Given the description of an element on the screen output the (x, y) to click on. 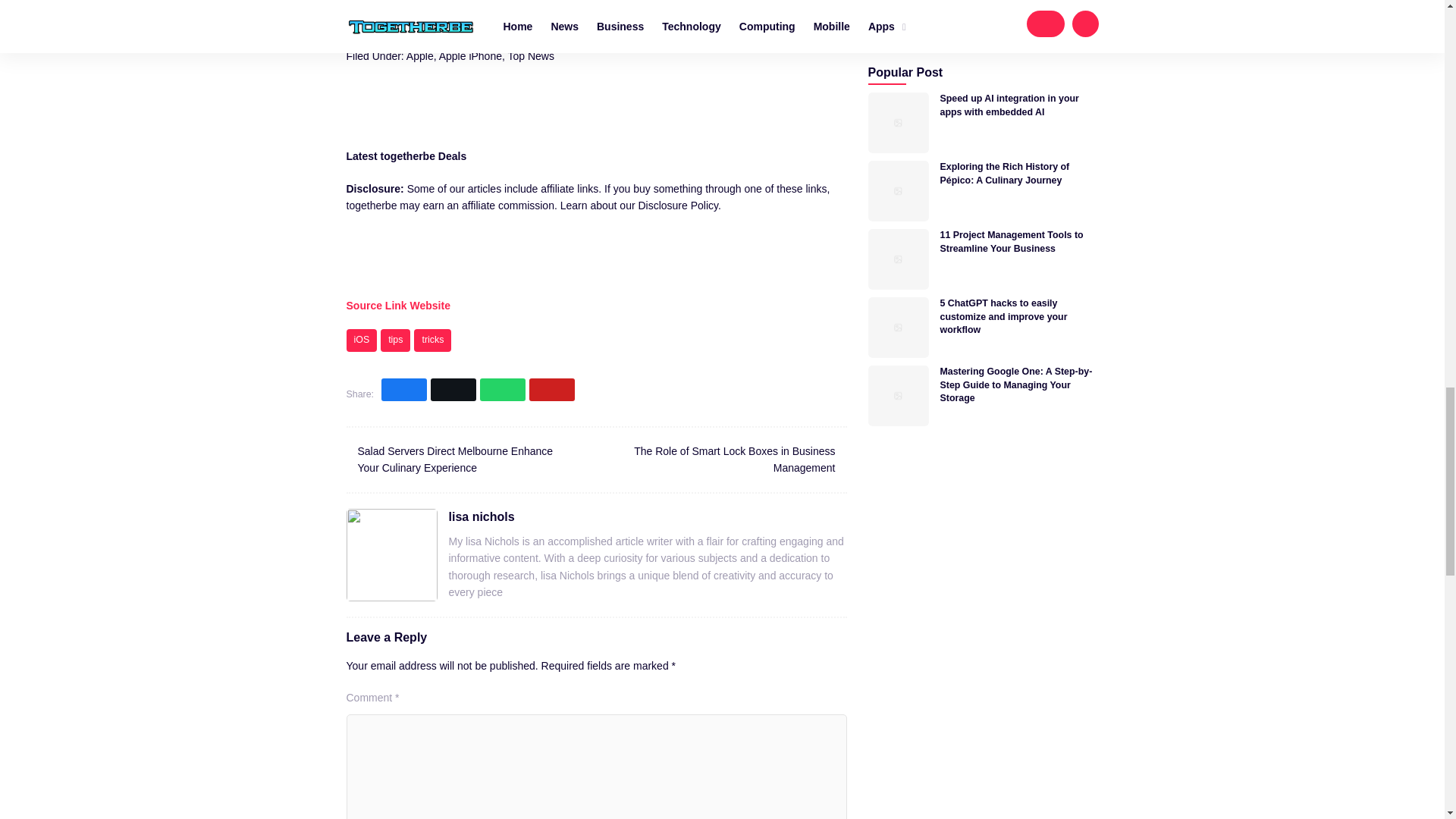
Share on Facebook (403, 389)
Share on Email (552, 389)
Source Link Website (397, 305)
tips (395, 340)
Share on Twitter (453, 389)
tricks (432, 340)
Share on Whatsapp (502, 389)
iOS (361, 340)
